Given the description of an element on the screen output the (x, y) to click on. 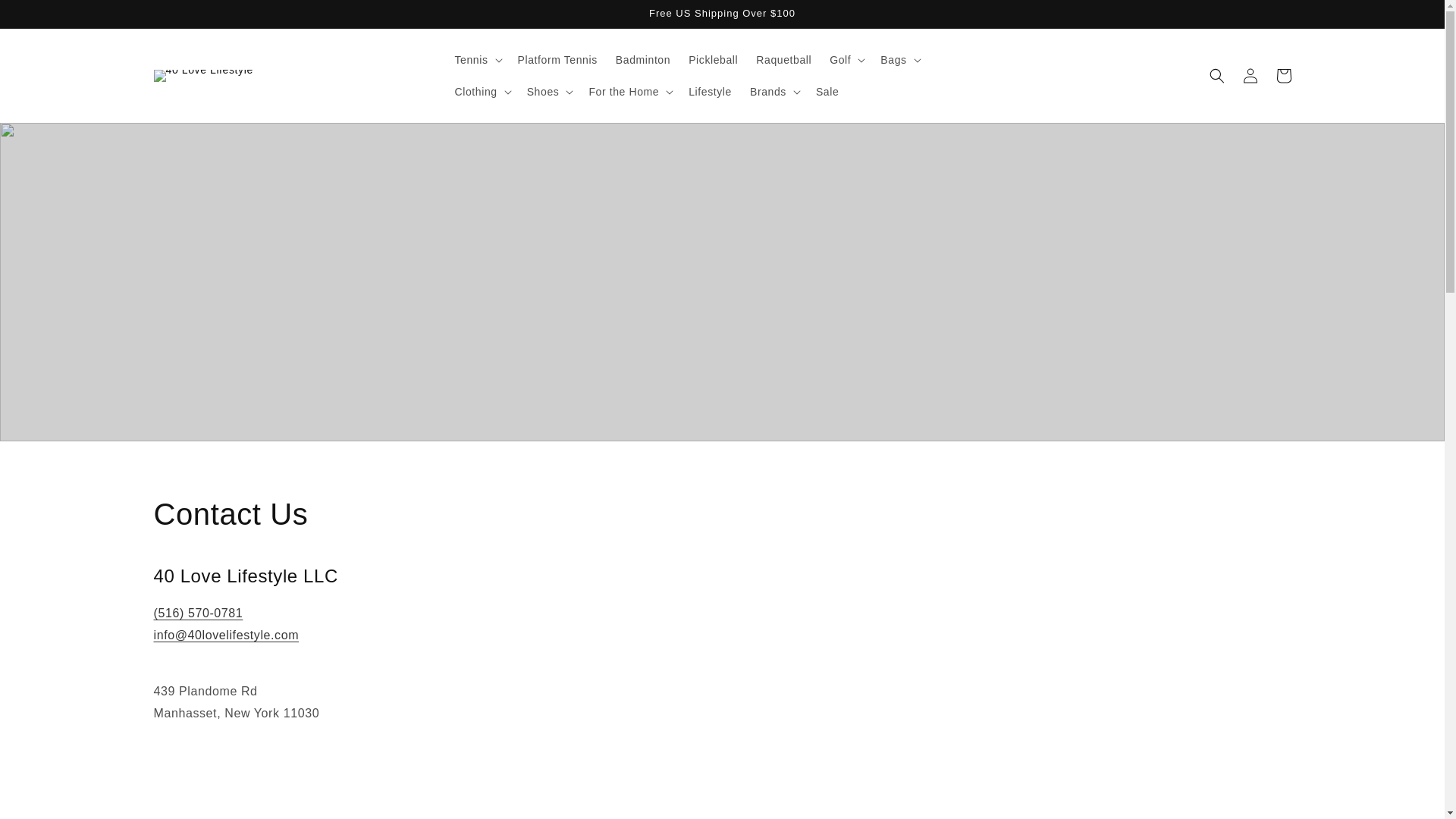
Sale Element type: text (826, 91)
Badminton Element type: text (642, 59)
Lifestyle Element type: text (709, 91)
Cart Element type: text (1282, 75)
Raquetball Element type: text (783, 59)
Log in Element type: text (1249, 75)
(516) 570-0781 Element type: text (197, 612)
Platform Tennis Element type: text (557, 59)
Pickleball Element type: text (712, 59)
info@40lovelifestyle.com Element type: text (225, 645)
